Given the description of an element on the screen output the (x, y) to click on. 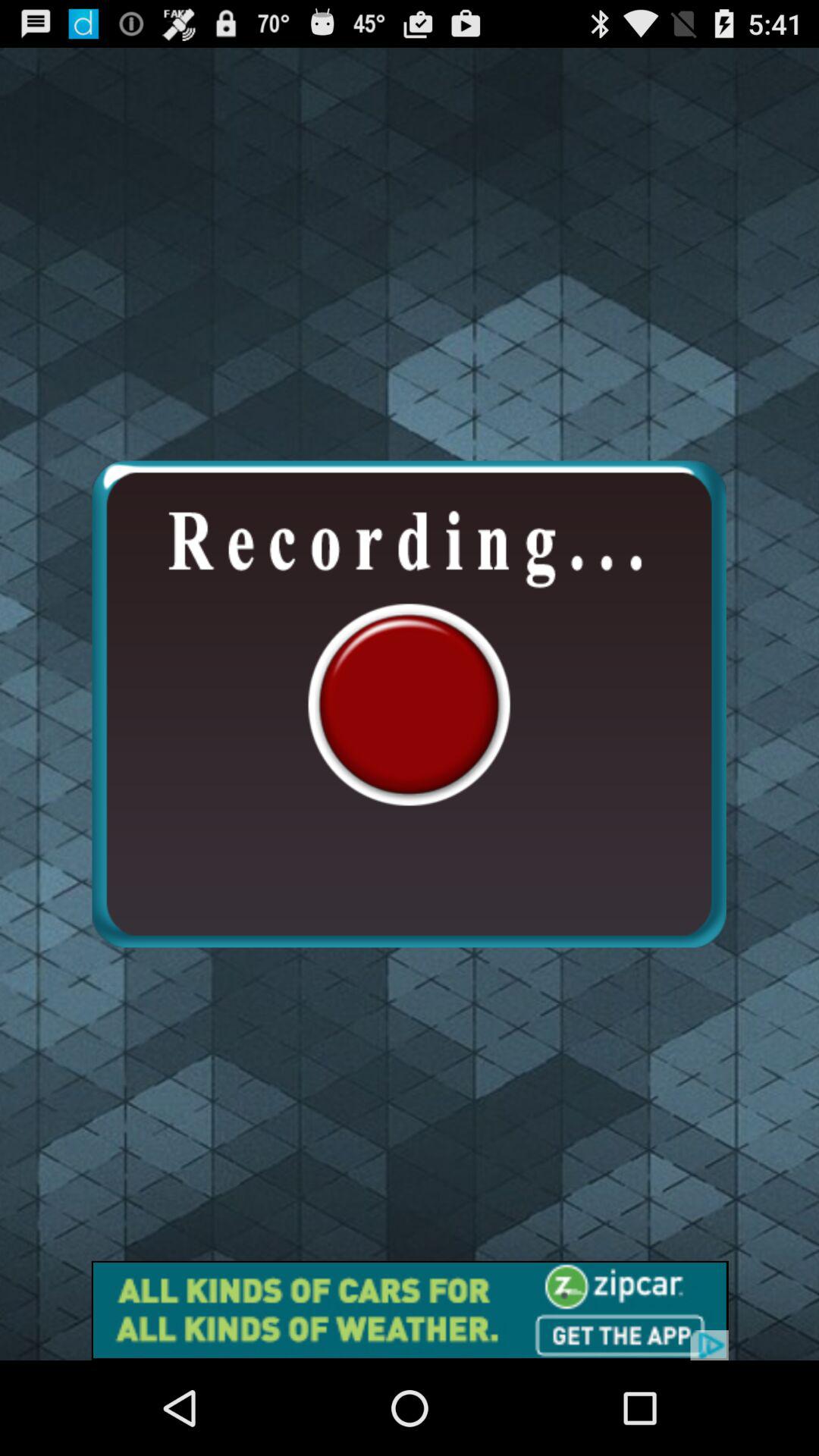
go to install new app (409, 1310)
